Given the description of an element on the screen output the (x, y) to click on. 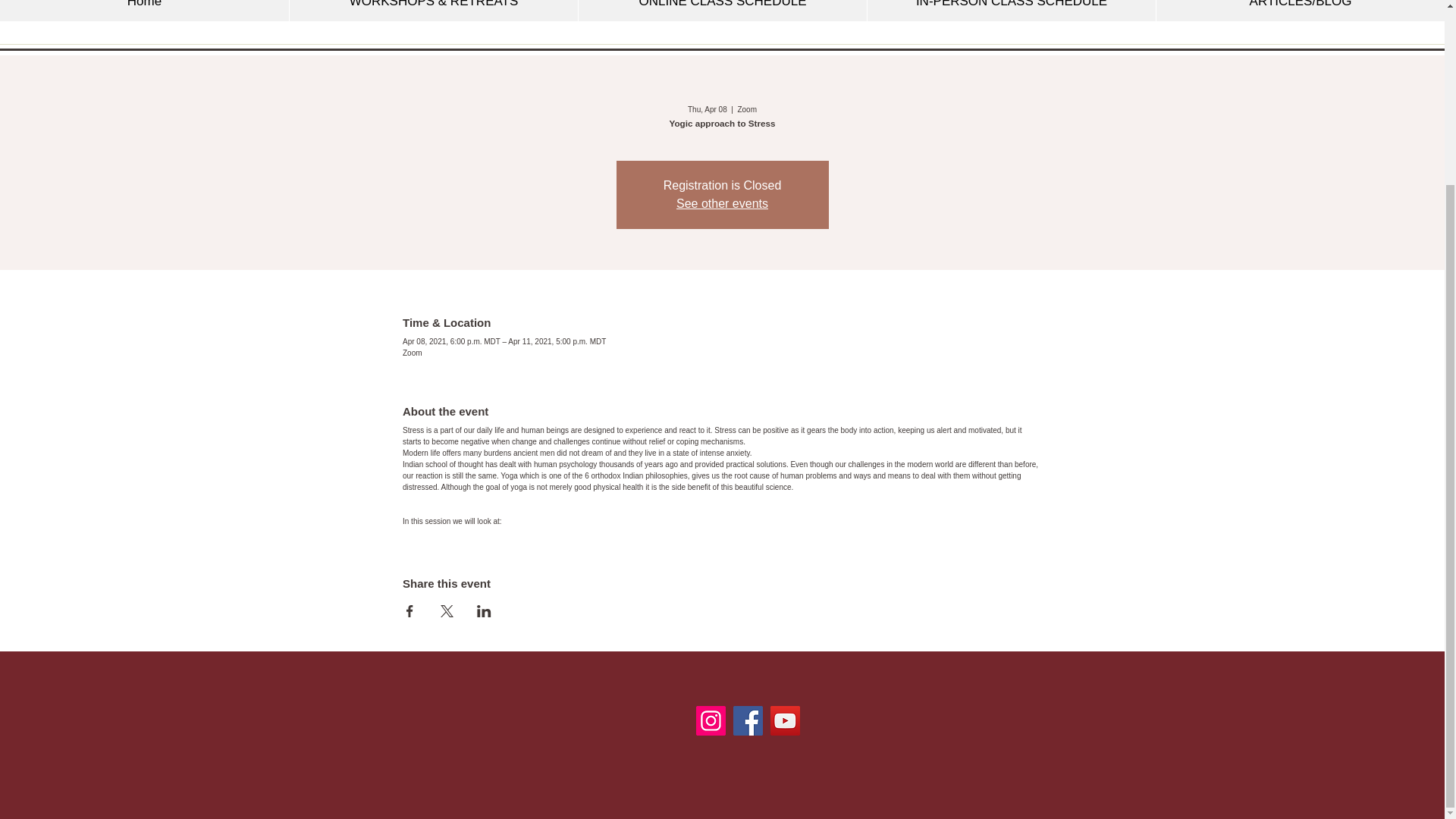
See other events (722, 203)
Home (144, 10)
IN-PERSON CLASS SCHEDULE (1011, 10)
ONLINE CLASS SCHEDULE (722, 10)
